Given the description of an element on the screen output the (x, y) to click on. 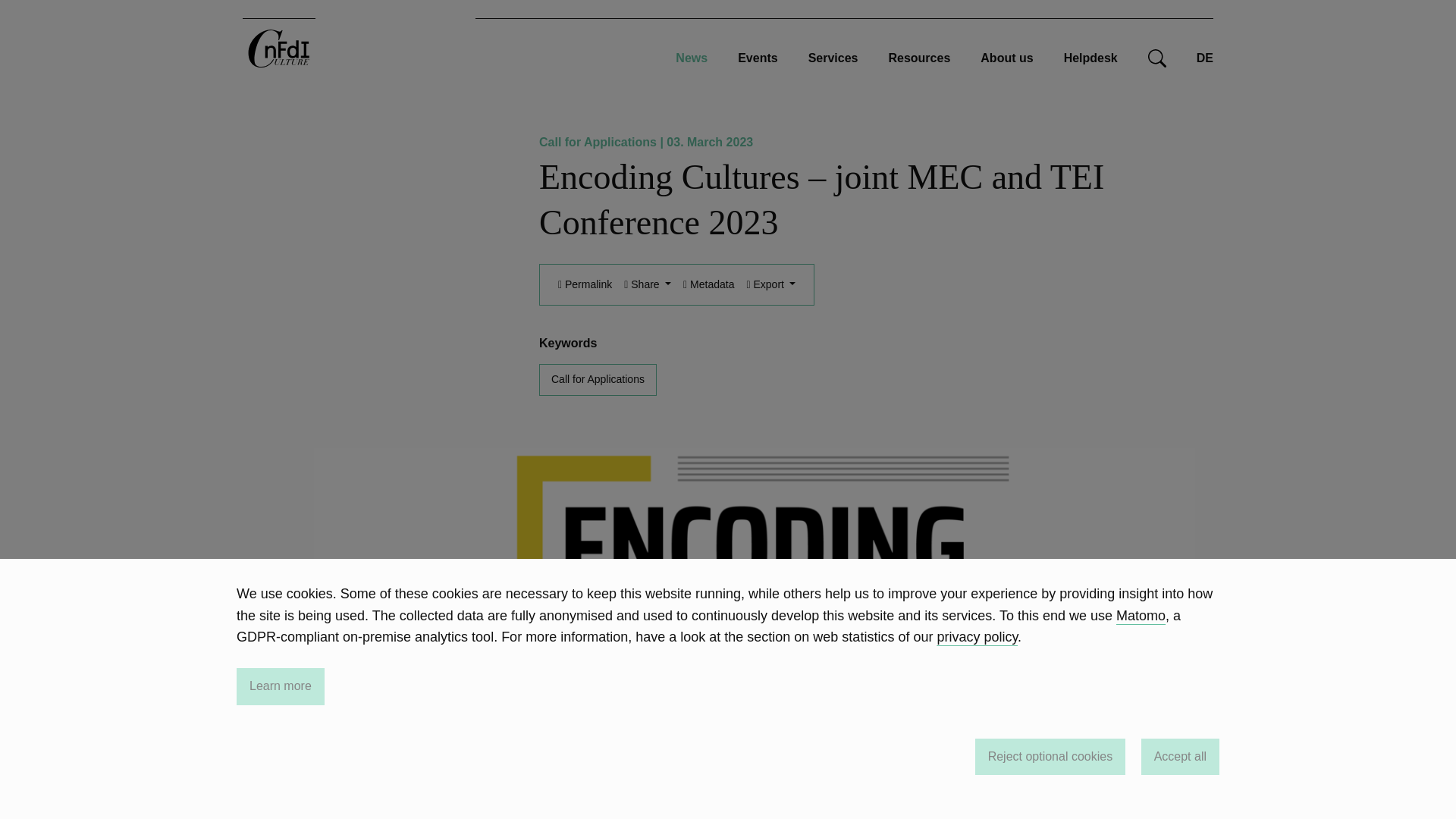
DE (1204, 57)
Events (757, 57)
News (691, 57)
Helpdesk (1091, 57)
Share (647, 284)
Services (833, 57)
Events (757, 57)
Permalink (584, 284)
News (691, 57)
Metadata (708, 284)
Resources (919, 57)
About us (1005, 57)
Export (770, 284)
